Given the description of an element on the screen output the (x, y) to click on. 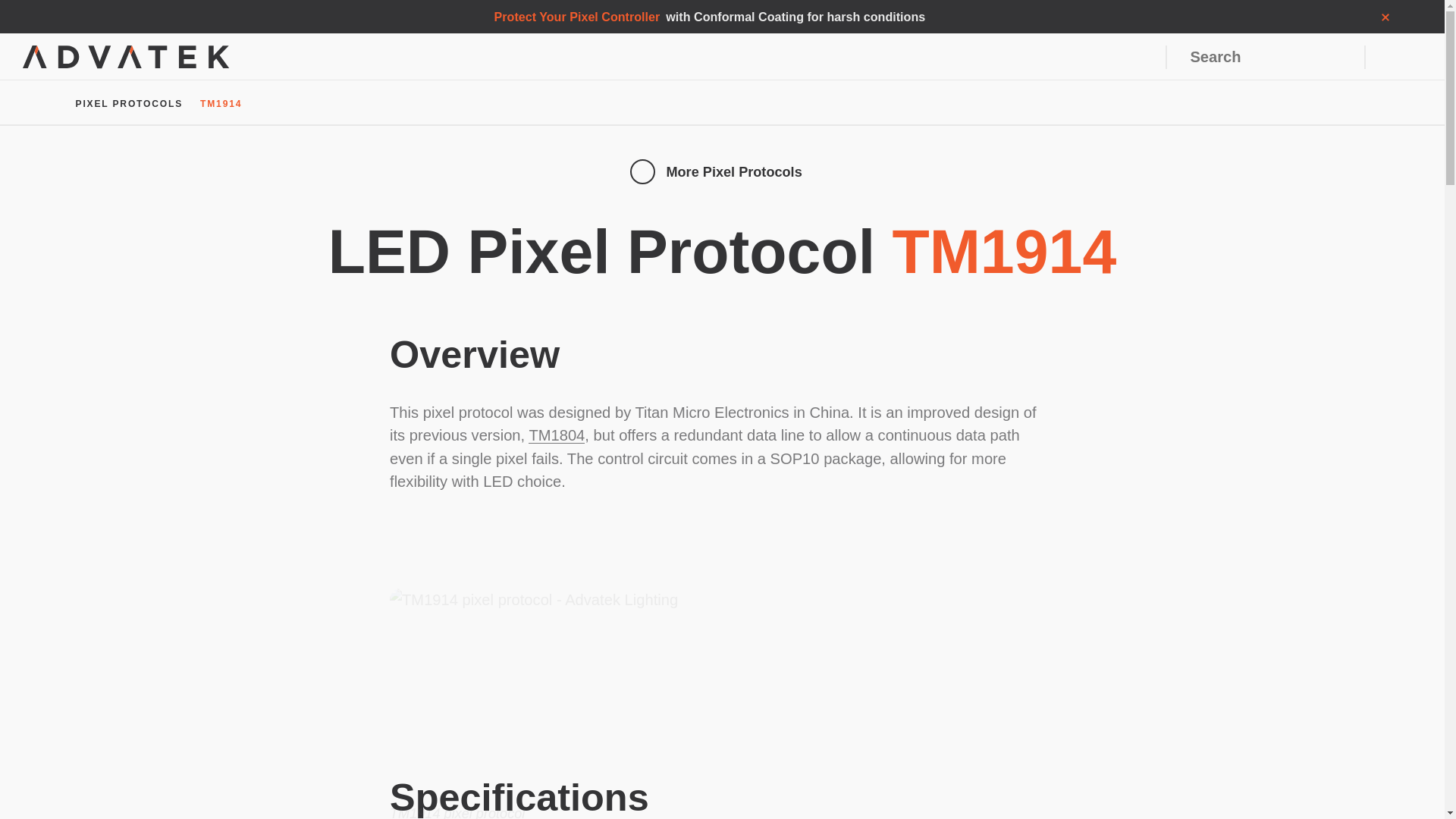
More Pixel Protocols (721, 171)
Pixel Protocols (135, 103)
Search (1334, 56)
Pixel Protocols (129, 103)
PIXEL PROTOCOLS (129, 103)
TM1914 pixel protocol (722, 689)
TM1804 (556, 434)
home (51, 103)
Home (58, 103)
TM1914 (220, 103)
